Given the description of an element on the screen output the (x, y) to click on. 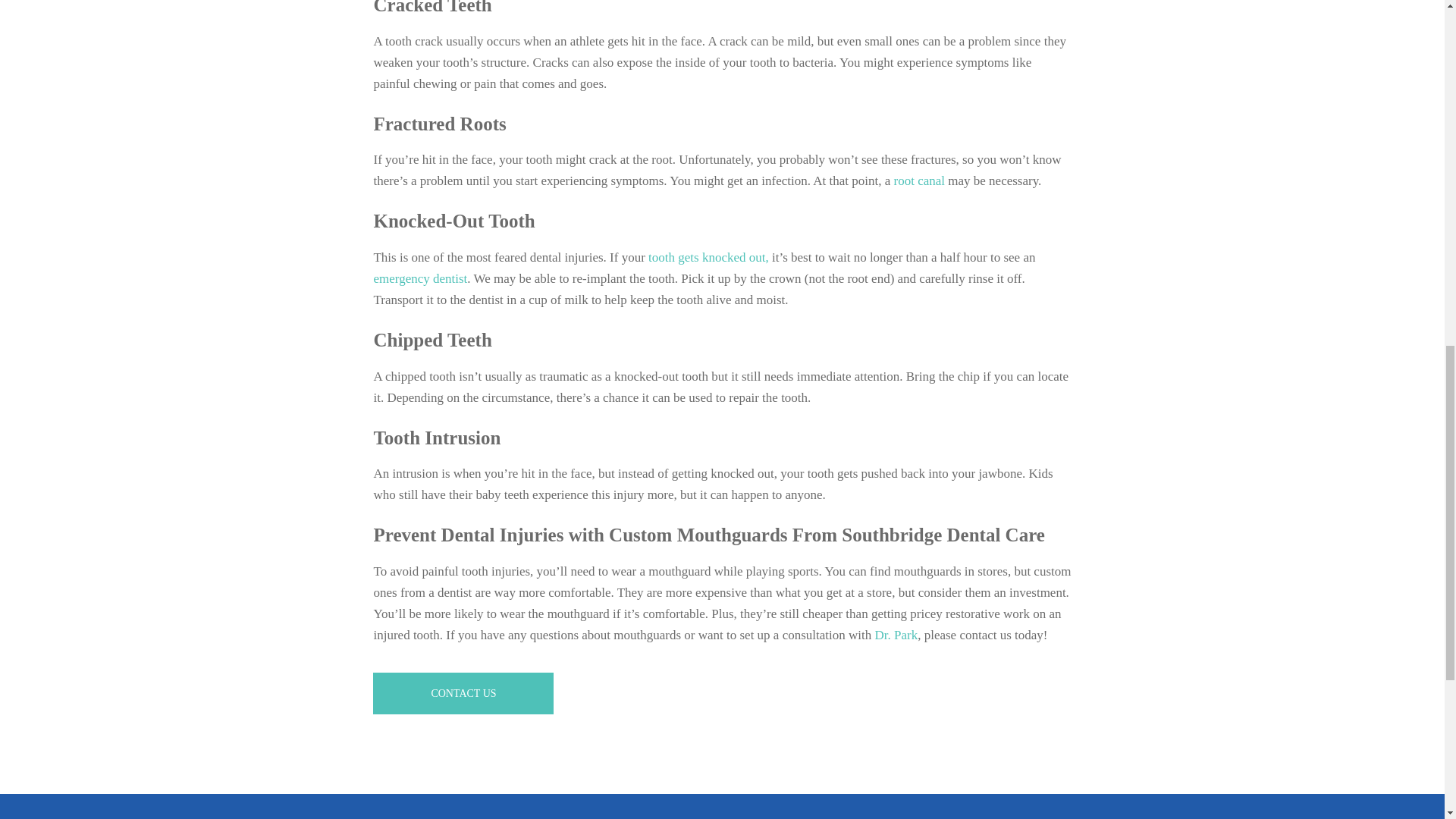
root canal (918, 180)
emergency dentist (419, 278)
tooth gets knocked out, (707, 257)
